Given the description of an element on the screen output the (x, y) to click on. 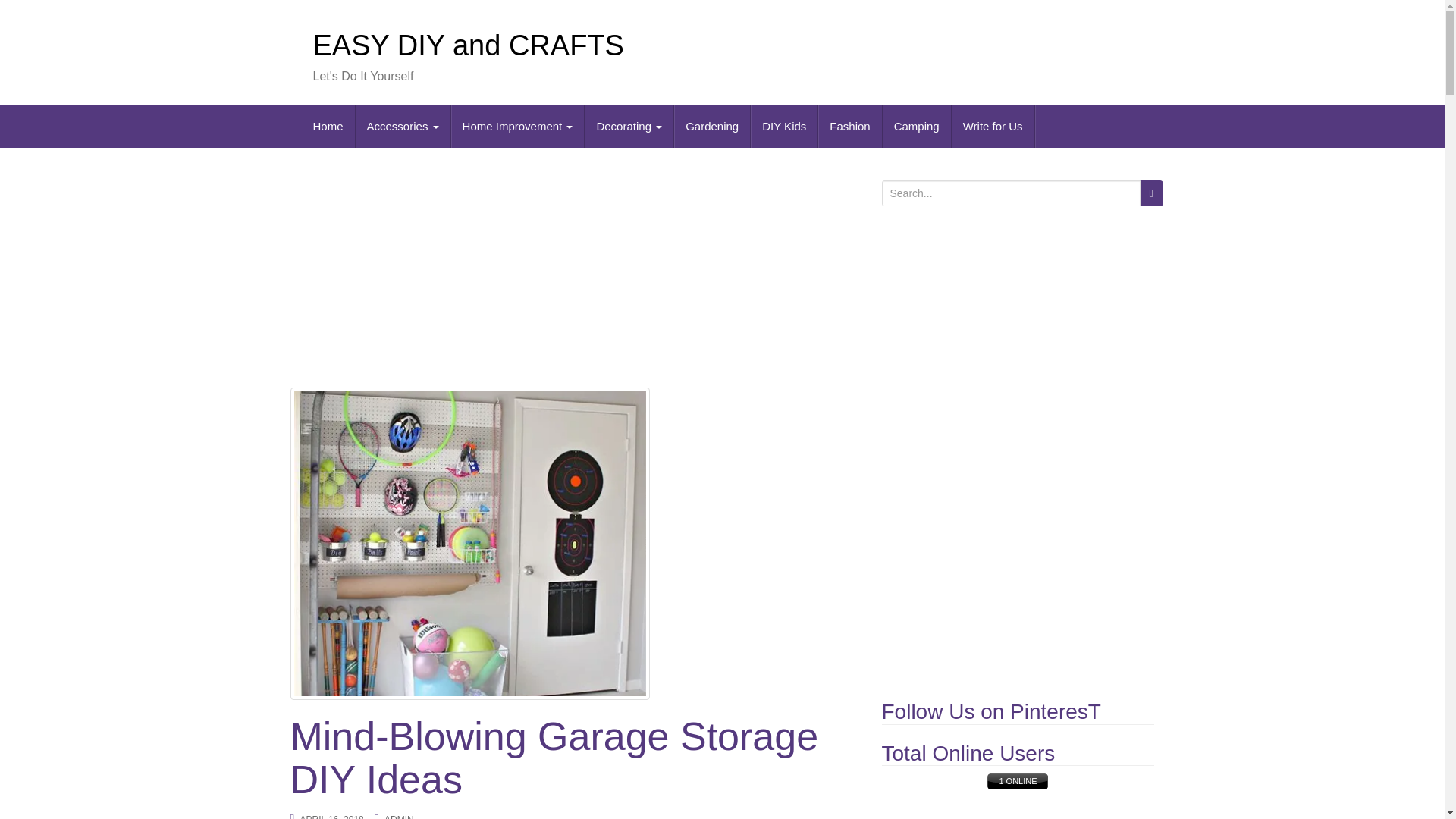
Write for Us (993, 126)
DIY Kids (784, 126)
DIY Kids (784, 126)
Camping (917, 126)
Home Improvement (518, 126)
Decorating (629, 126)
Gardening (712, 126)
Camping (917, 126)
APRIL 16, 2018 (331, 816)
Write for Us (993, 126)
Fashion (850, 126)
Advertisement (574, 274)
Fashion (850, 126)
ADMIN (398, 816)
Gardening (712, 126)
